Given the description of an element on the screen output the (x, y) to click on. 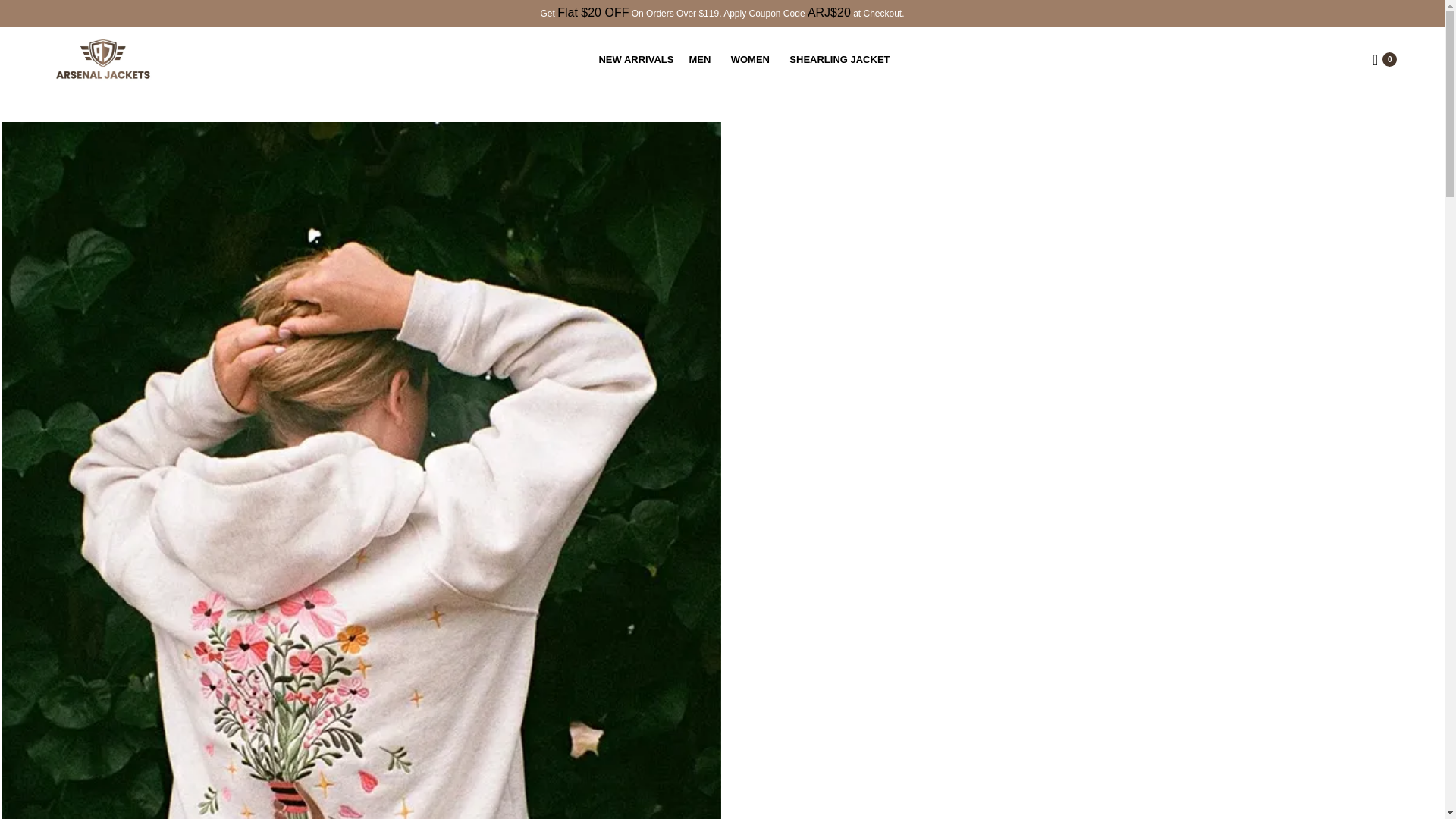
MEN (701, 59)
WOMEN (753, 59)
Shopping cart (1385, 59)
0 (1385, 59)
SHEARLING JACKET (841, 59)
NEW ARRIVALS (636, 59)
